Given the description of an element on the screen output the (x, y) to click on. 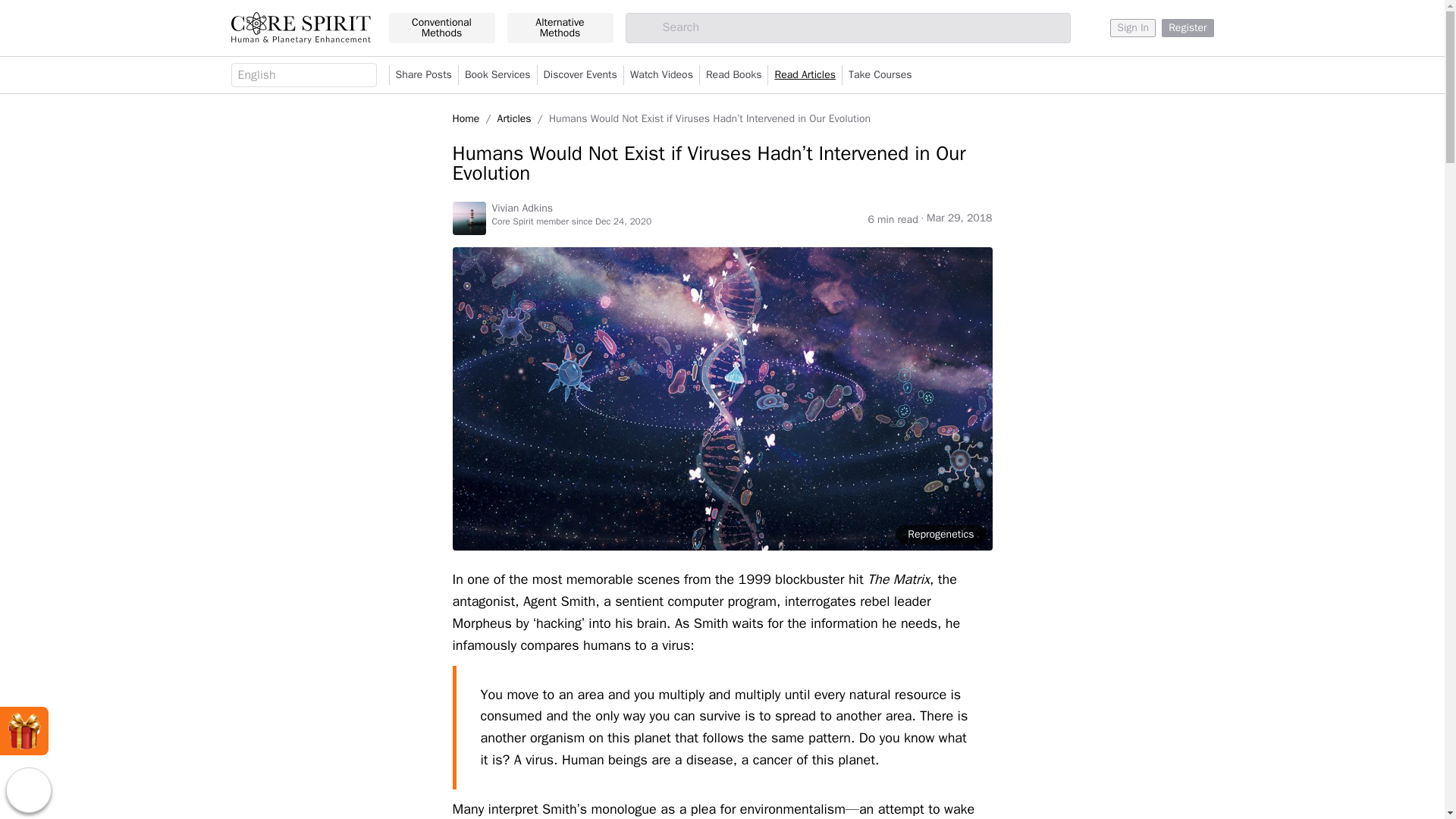
Sign In (1132, 27)
Back to top (27, 790)
Register (1186, 27)
Share Posts (423, 75)
Book Services (497, 75)
Conventional Methods (441, 28)
Alternative Methods (559, 28)
